Given the description of an element on the screen output the (x, y) to click on. 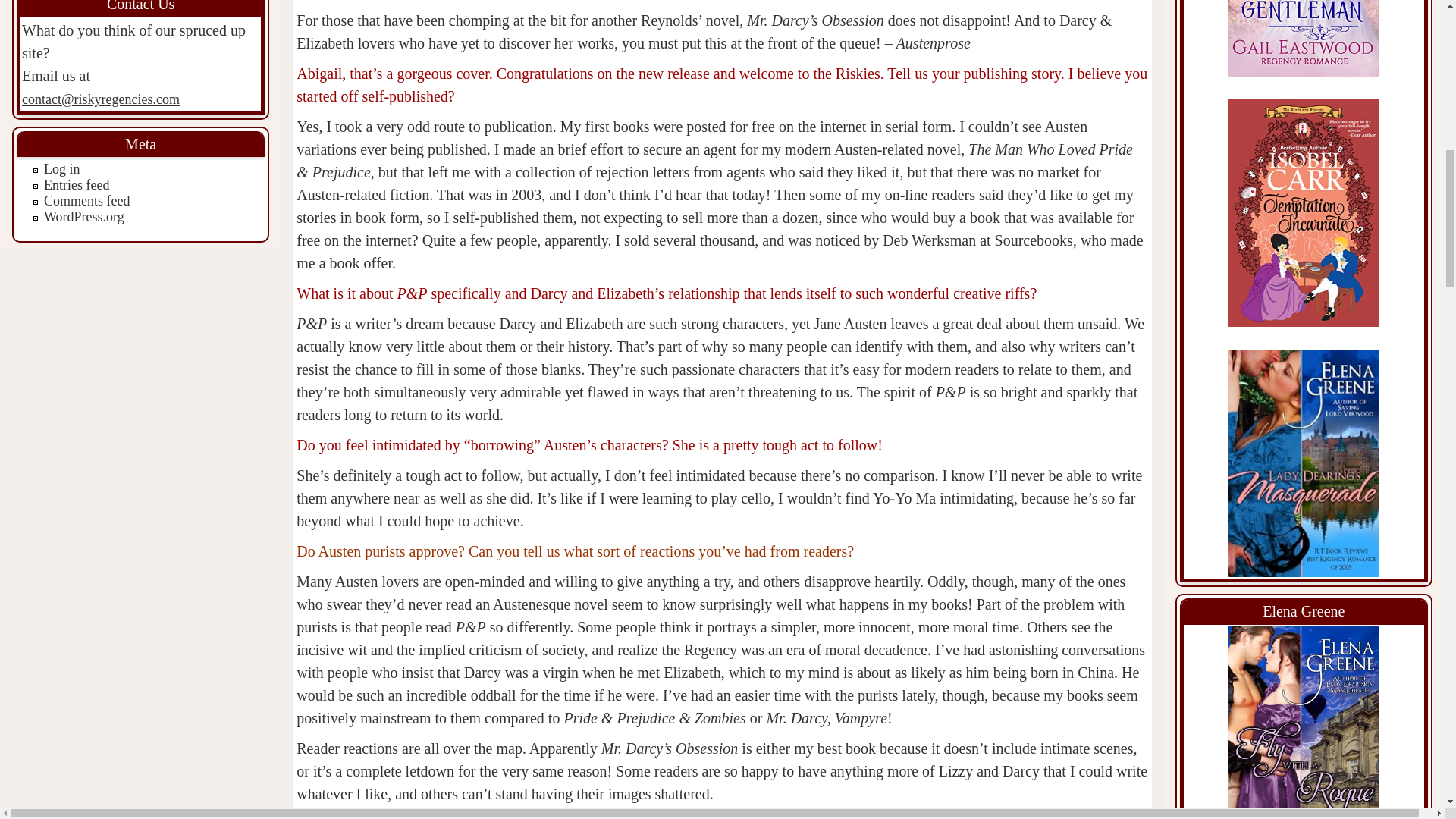
Subscribe (1349, 324)
Enter email address (1348, 275)
wpfruits (1373, 355)
